Given the description of an element on the screen output the (x, y) to click on. 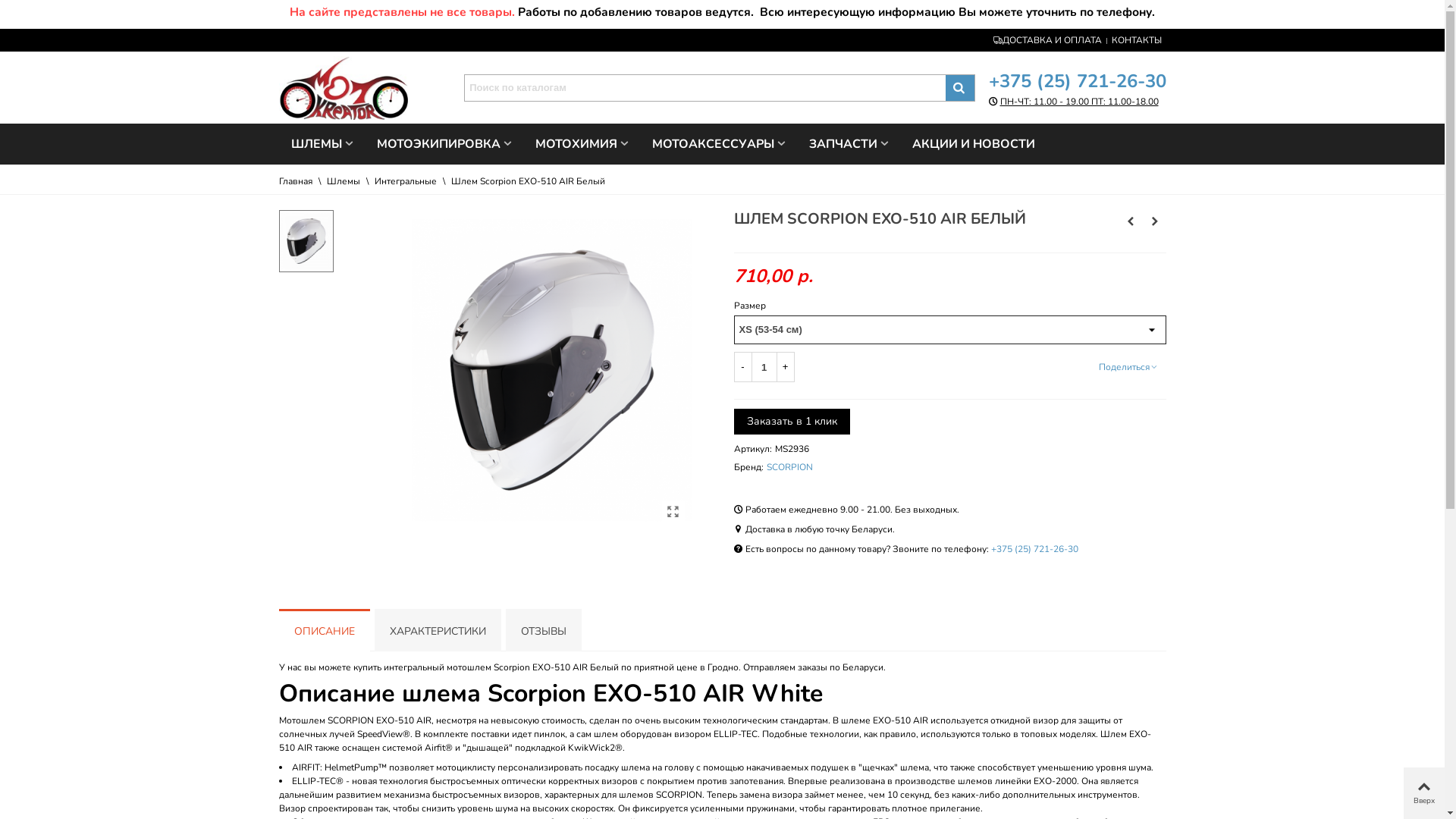
Motkreator Element type: hover (365, 87)
+ Element type: text (785, 366)
- Element type: text (743, 366)
+375 (25) 721-26-30 Element type: text (1077, 81)
SCORPION Element type: text (788, 466)
+375 (25) 721-26-30 Element type: text (1033, 548)
